Given the description of an element on the screen output the (x, y) to click on. 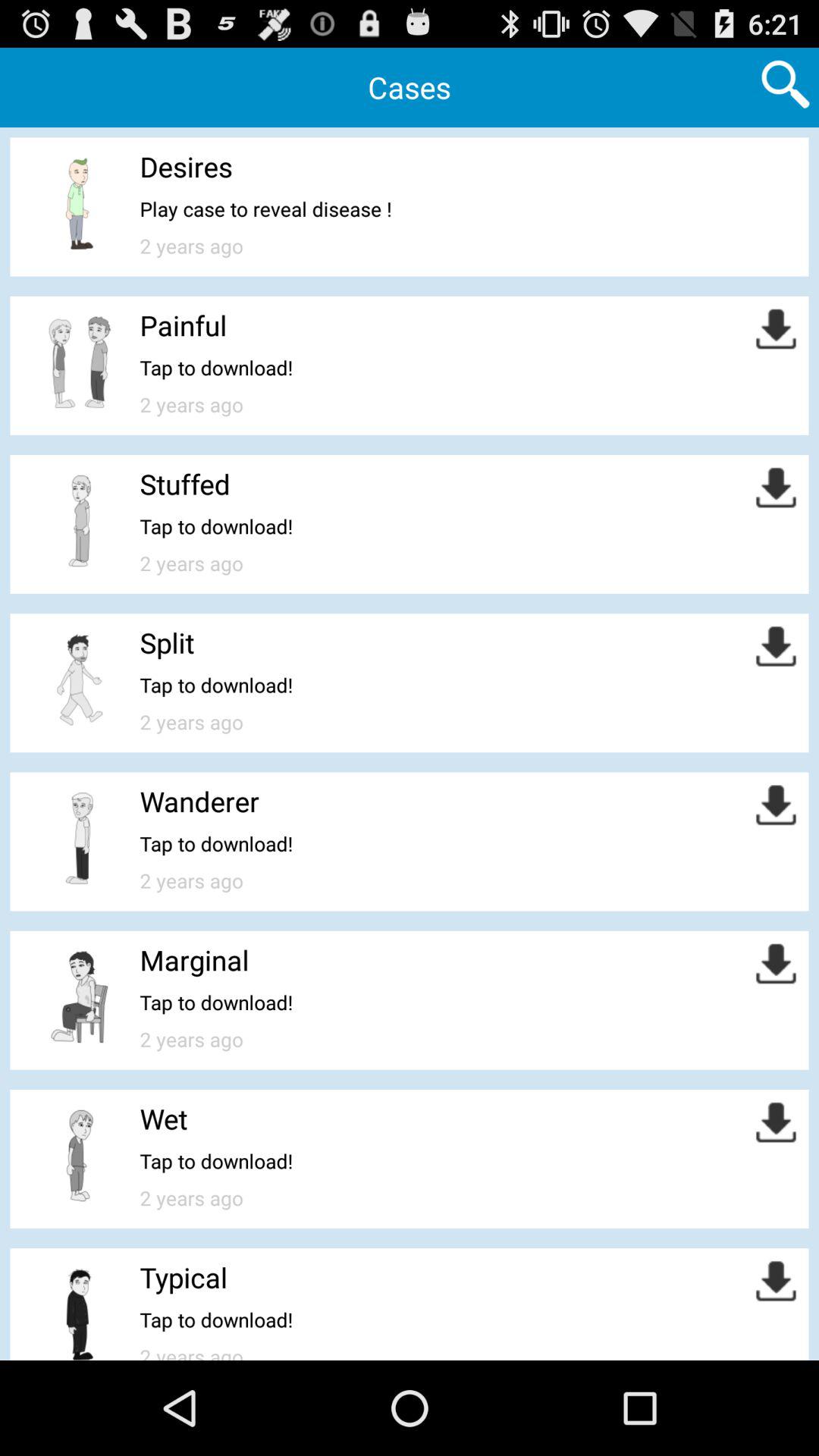
swipe until the wet item (163, 1118)
